Given the description of an element on the screen output the (x, y) to click on. 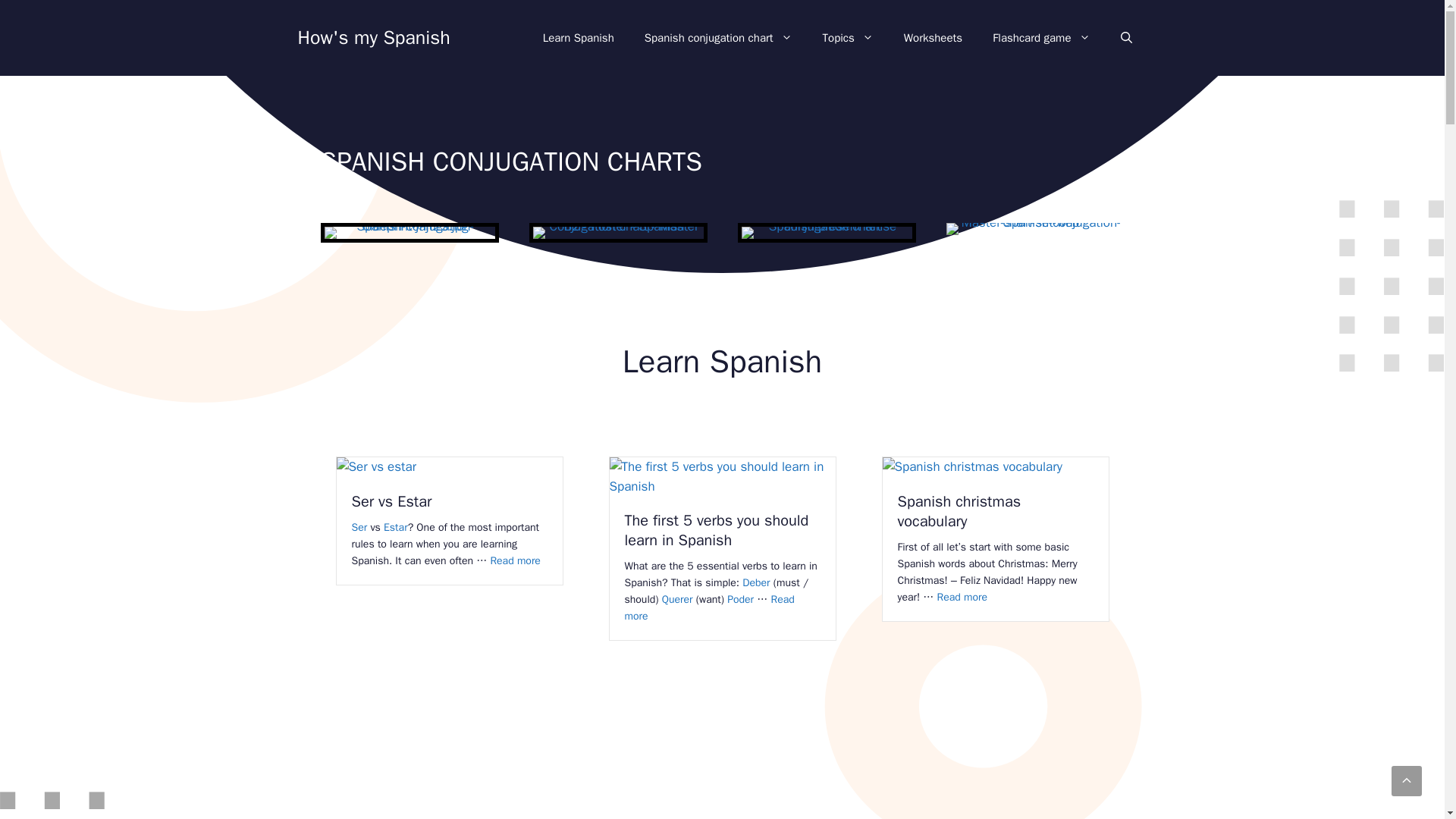
deber conjugation chart (756, 582)
How's my Spanish (373, 37)
Spanish christmas vocabulary (960, 511)
Read more (709, 607)
The first 5 verbs you should learn in Spanish (716, 530)
Ser vs Estar (392, 501)
Spanish conjugation chart (718, 37)
Ser (360, 526)
Spanish-conjugation-blueprint-jan23.jpg (408, 232)
Topics (848, 37)
